Given the description of an element on the screen output the (x, y) to click on. 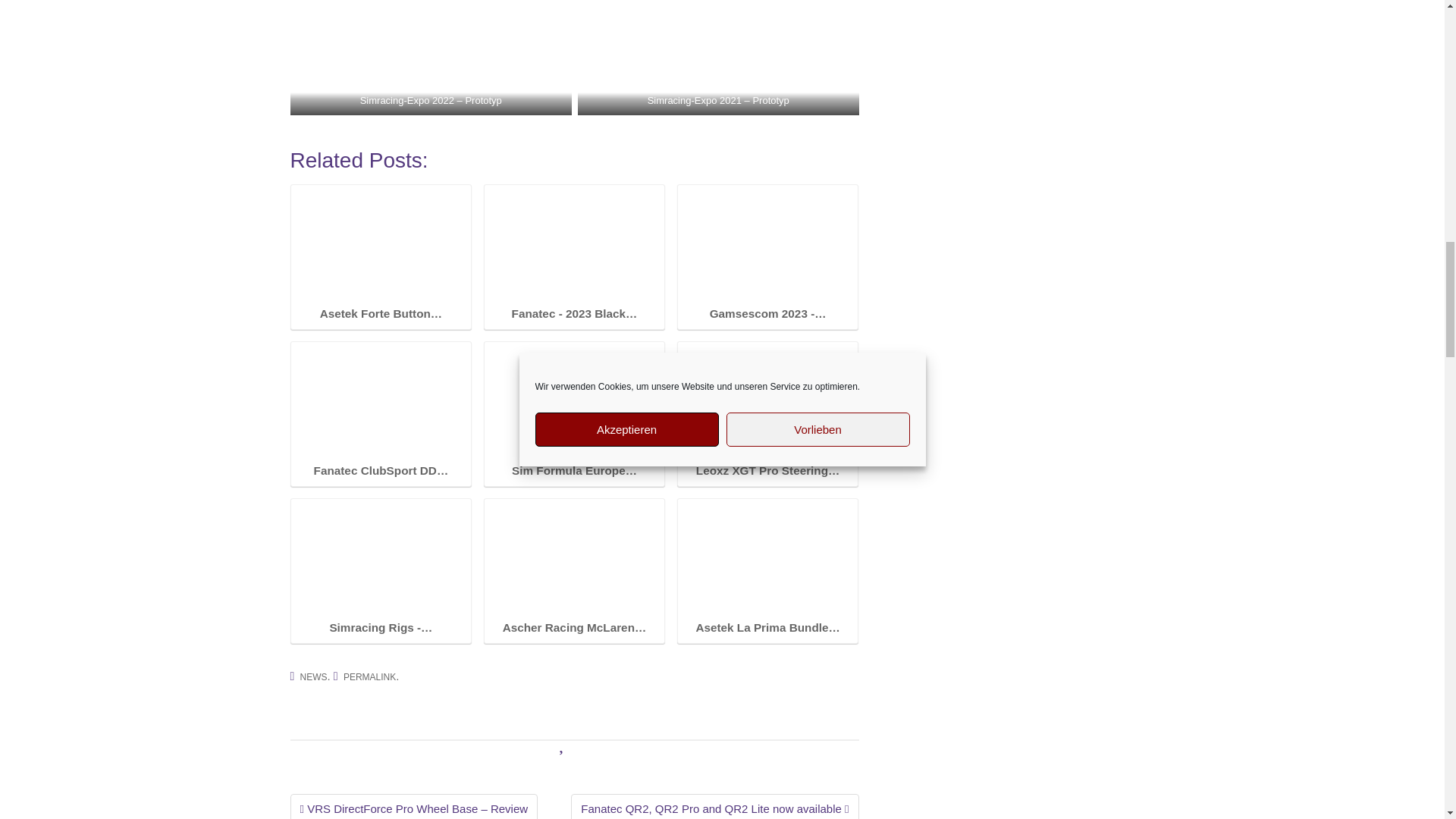
Asetek Forte Button Box and Wheel Rims - Review (380, 244)
Fanatec - 2023 Black Friday Deals (573, 244)
Asetek La Prima Bundle - Review (768, 558)
Gamsescom 2023 - Pictures of the event (768, 244)
Leoxz XGT Pro Steering Wheel - Review (768, 400)
Fanatec ClubSport DD Wheel Base - Review (380, 400)
Simracing Rigs - Product Overview and Recommendations (380, 558)
Sim Formula Europe 2024 - Impressions and pictures (573, 400)
